Given the description of an element on the screen output the (x, y) to click on. 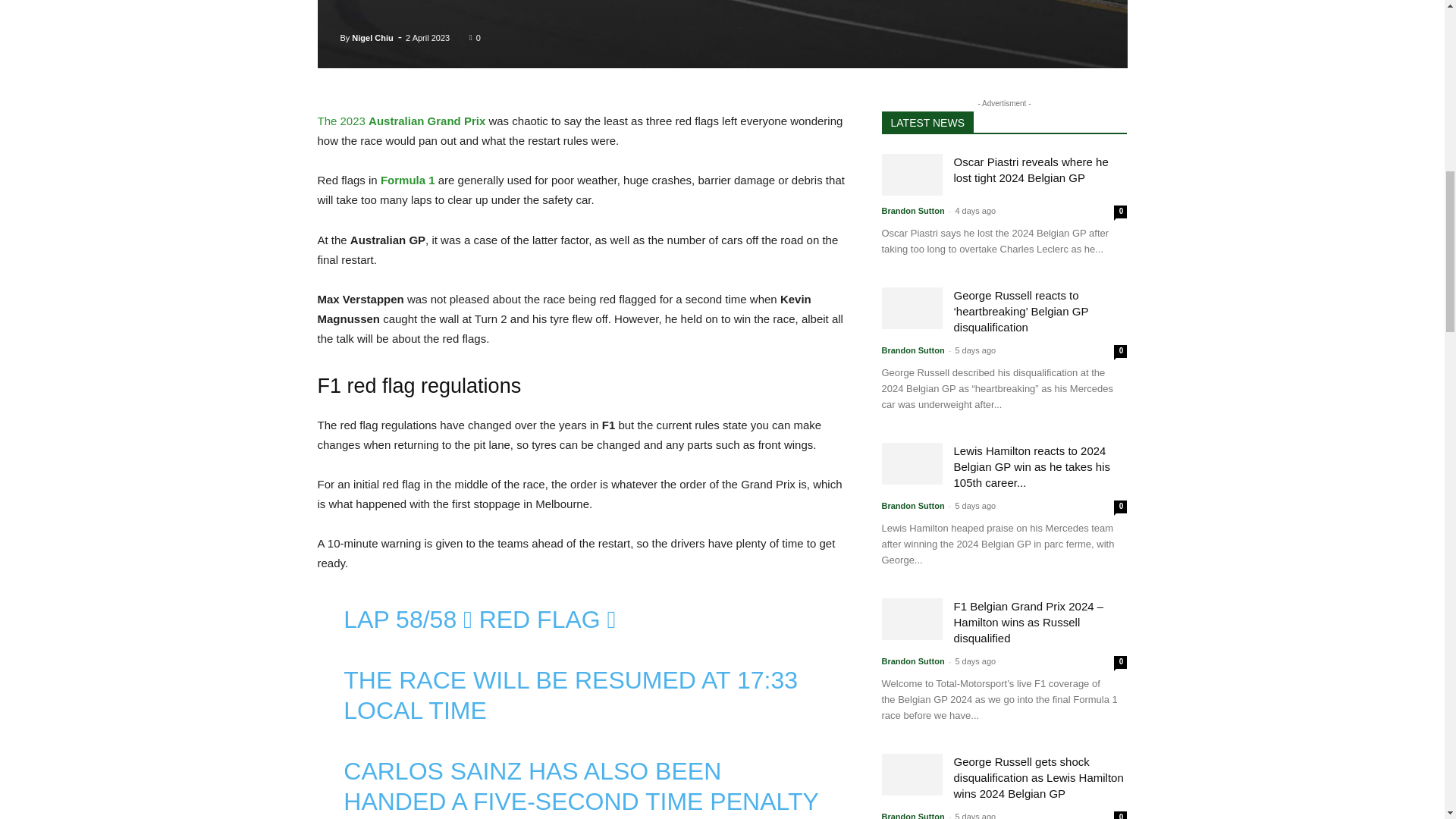
2023 Australian Grand Prix, Friday - Jiri Krenek (721, 34)
0 (474, 36)
Nigel Chiu (372, 37)
